Given the description of an element on the screen output the (x, y) to click on. 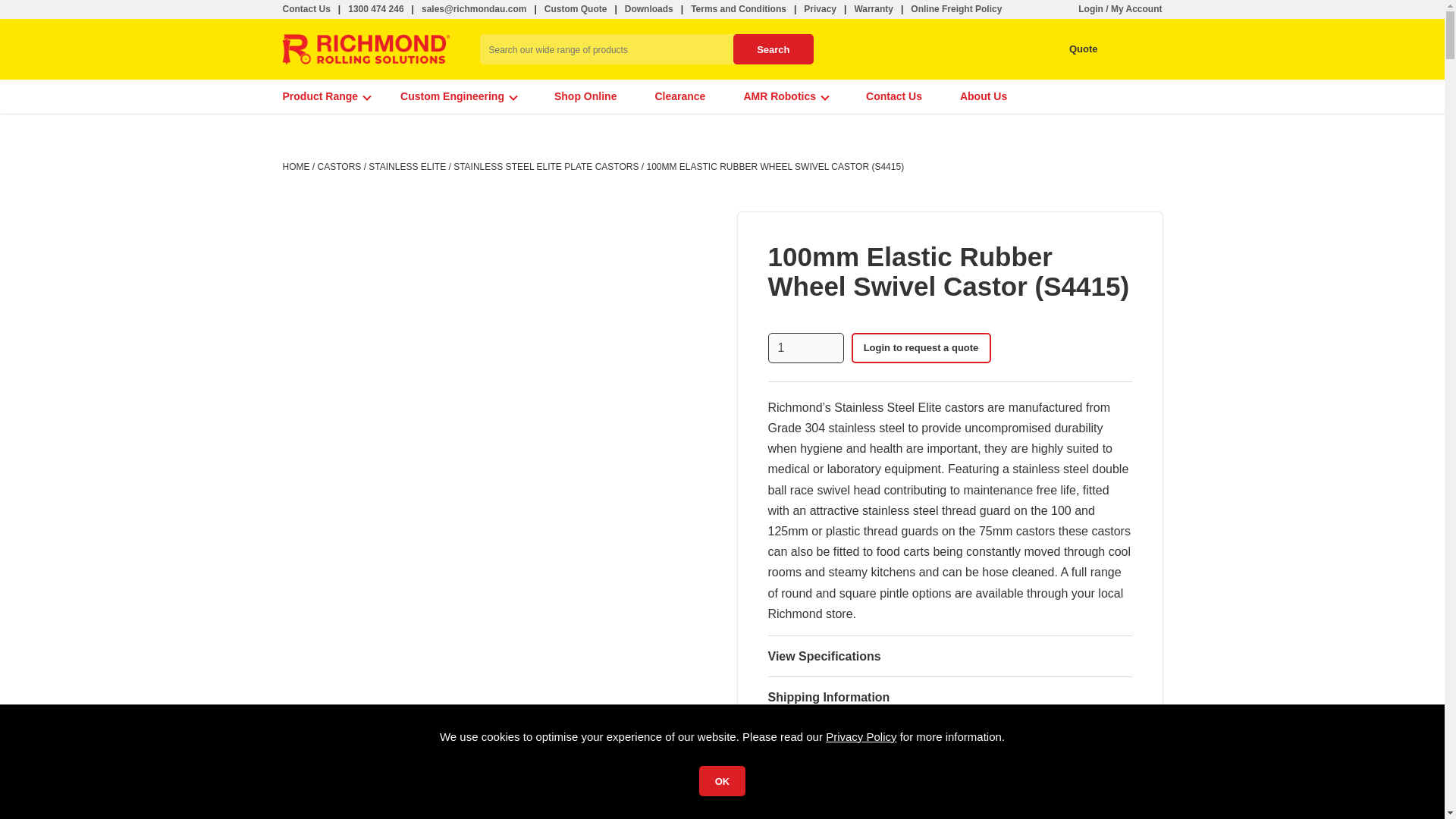
Warranty (873, 9)
Privacy (819, 9)
qty (805, 347)
Product Range (325, 96)
Contact Us (306, 9)
Online Freight Policy (956, 9)
1300 474 246 (375, 9)
1 (805, 347)
Quote (1069, 48)
Custom Quote (575, 9)
Search (772, 49)
Terms and Conditions (738, 9)
Downloads (648, 9)
